Given the description of an element on the screen output the (x, y) to click on. 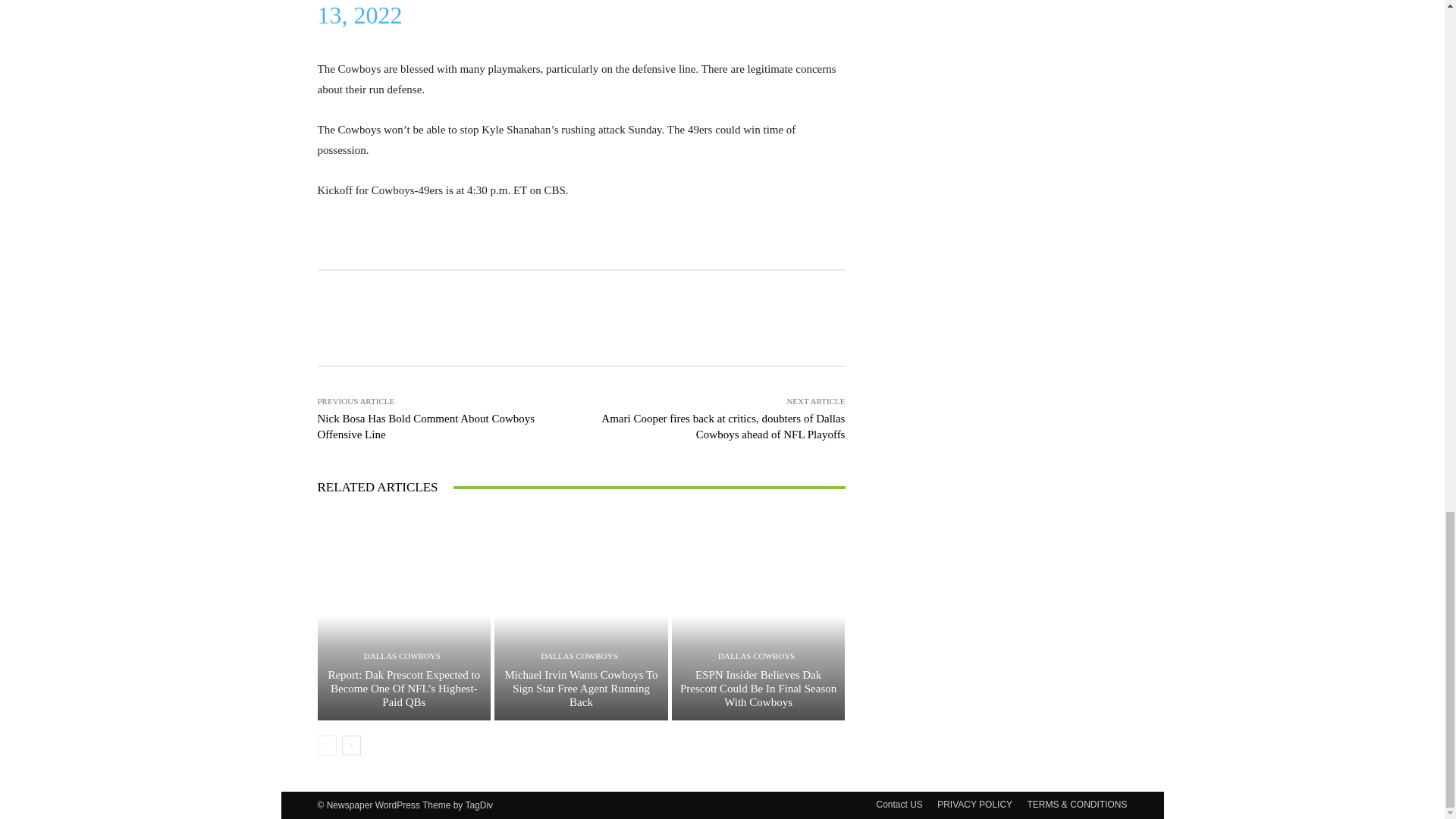
DALLAS COWBOYS (402, 655)
Nick Bosa Has Bold Comment About Cowboys Offensive Line (425, 426)
JANUARY 13, 2022 (580, 14)
